Given the description of an element on the screen output the (x, y) to click on. 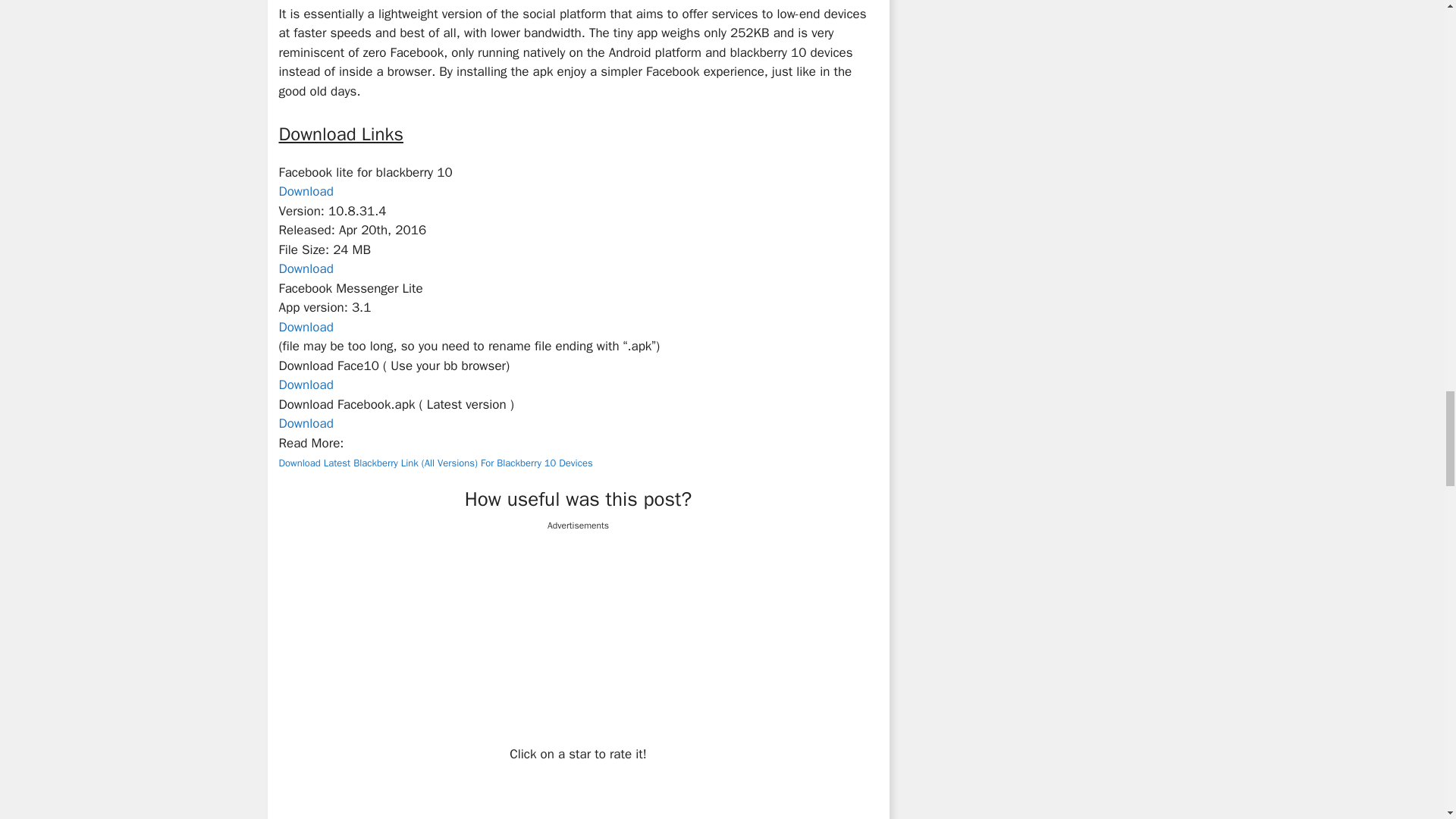
Download (306, 384)
Download (306, 326)
Download (306, 423)
Download (306, 191)
Download (306, 268)
